Given the description of an element on the screen output the (x, y) to click on. 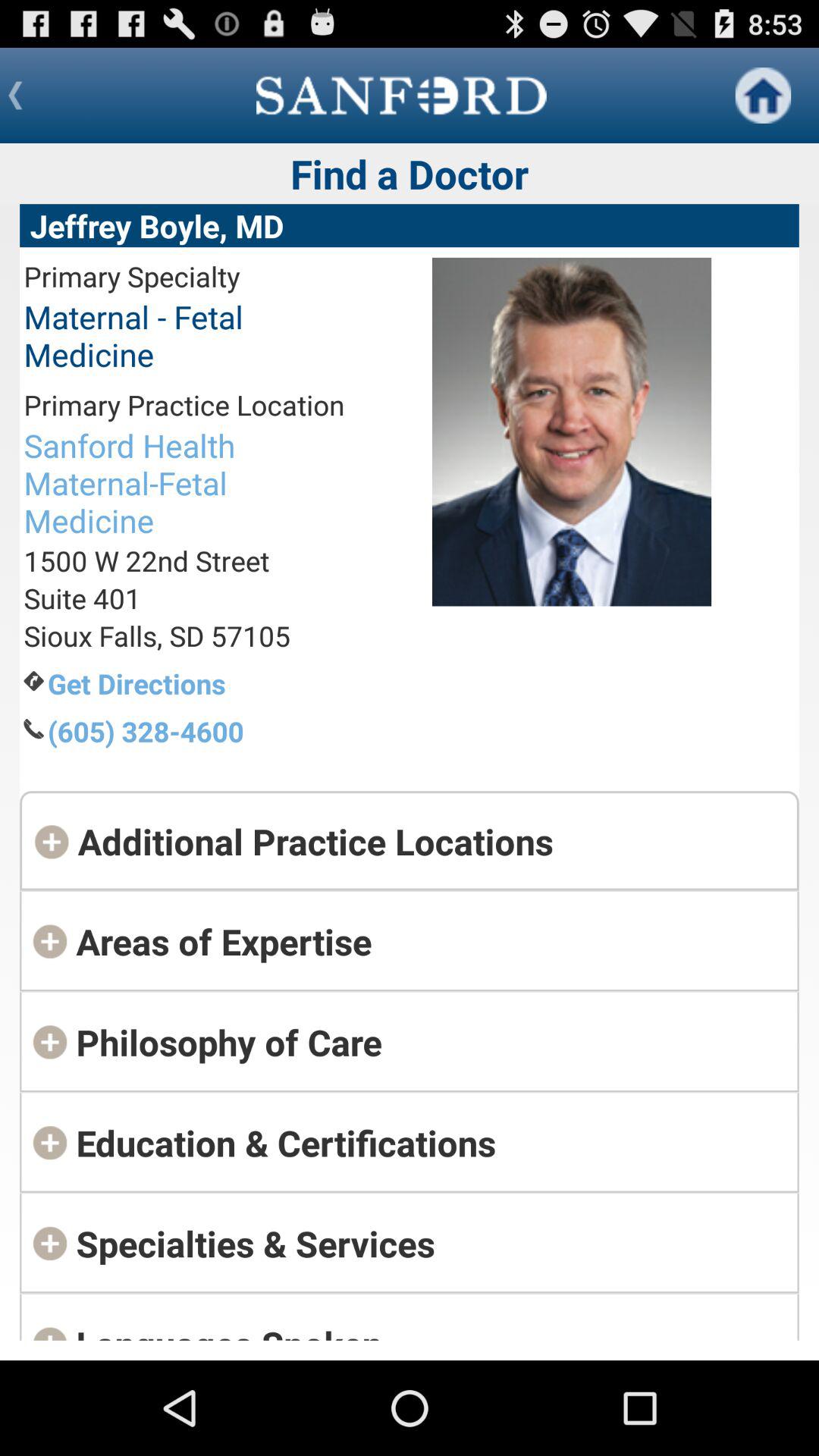
turn off the sanford health maternal (183, 482)
